Given the description of an element on the screen output the (x, y) to click on. 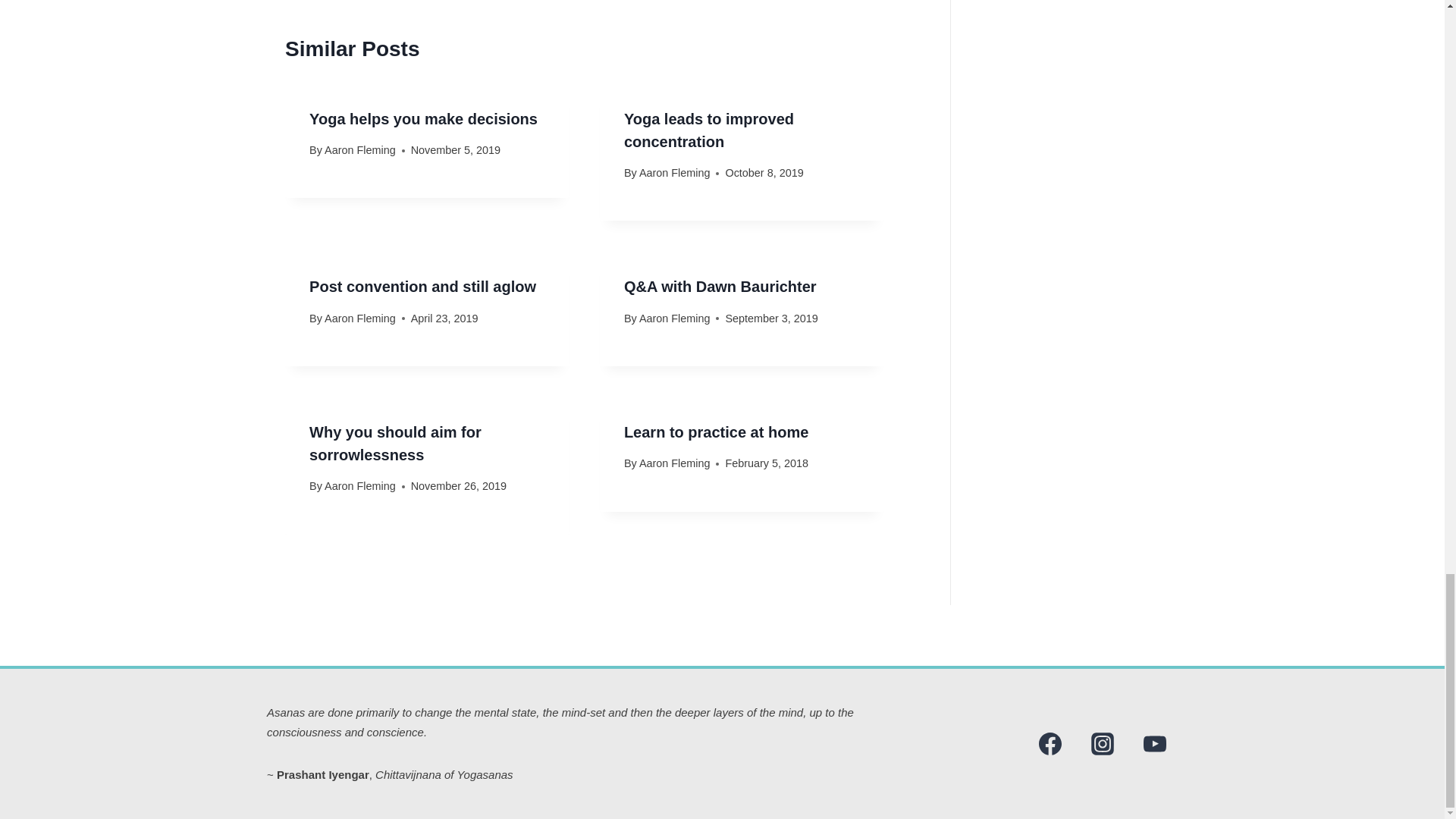
Aaron Fleming (674, 173)
Post convention and still aglow (421, 286)
Yoga leads to improved concentration (708, 129)
Yoga helps you make decisions (422, 118)
Aaron Fleming (360, 150)
Aaron Fleming (360, 318)
